Given the description of an element on the screen output the (x, y) to click on. 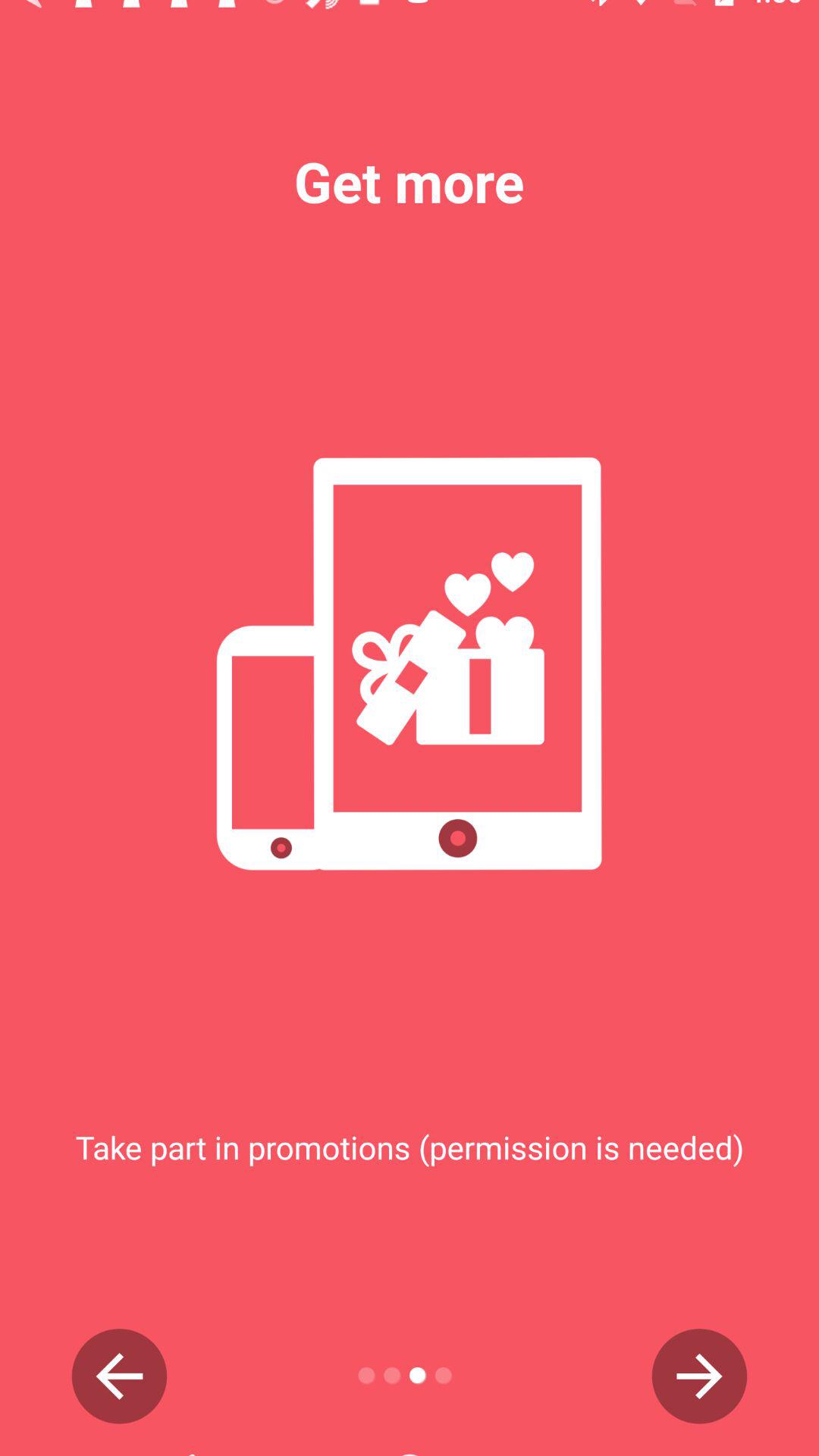
go to next (699, 1376)
